Given the description of an element on the screen output the (x, y) to click on. 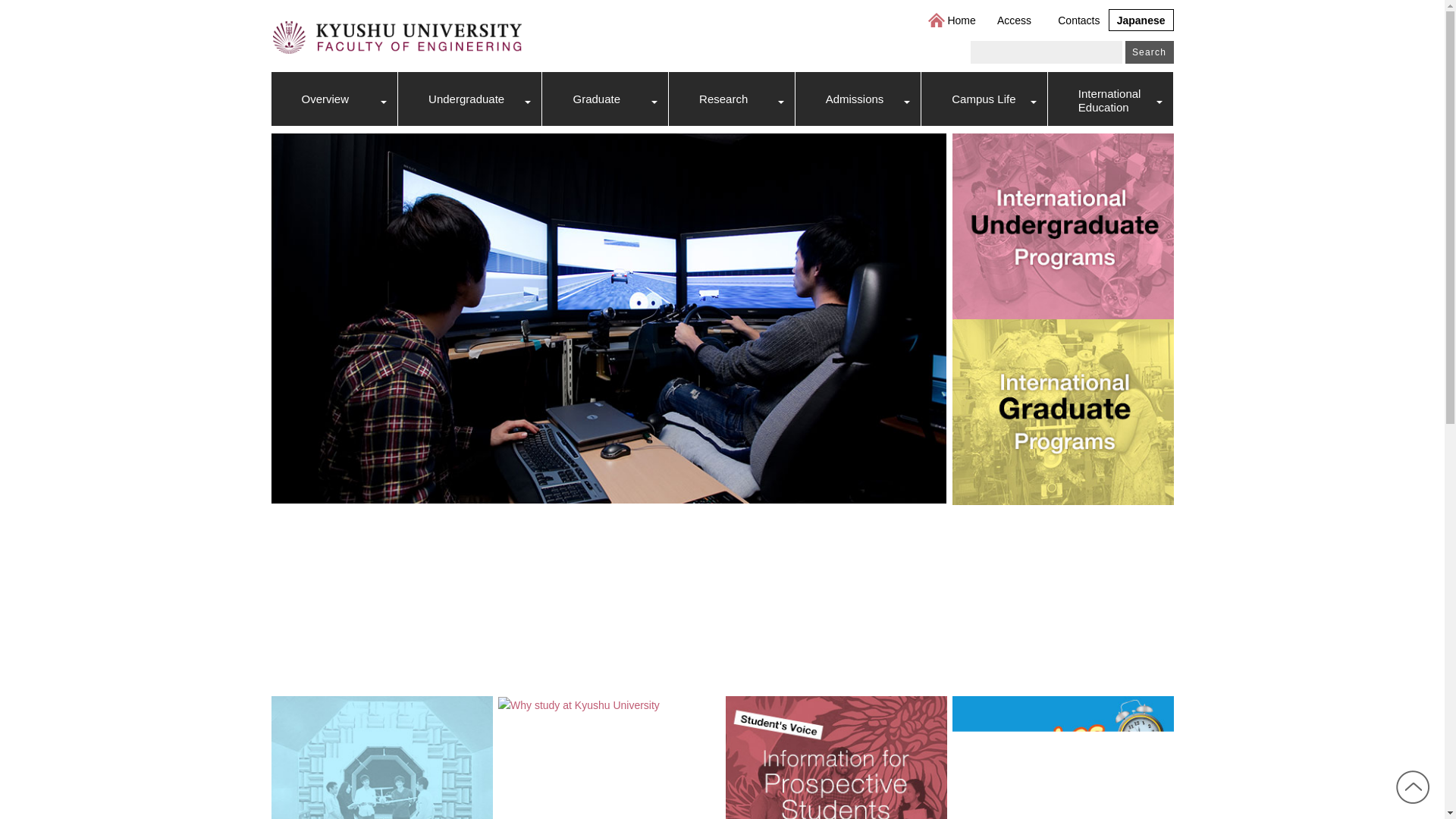
Contacts (1078, 20)
Search (1149, 51)
Access (1013, 20)
Search (1149, 51)
Home (961, 20)
Search (1149, 51)
Undergraduate (469, 99)
Japanese (1140, 20)
Graduate (604, 99)
Overview (333, 99)
